Given the description of an element on the screen output the (x, y) to click on. 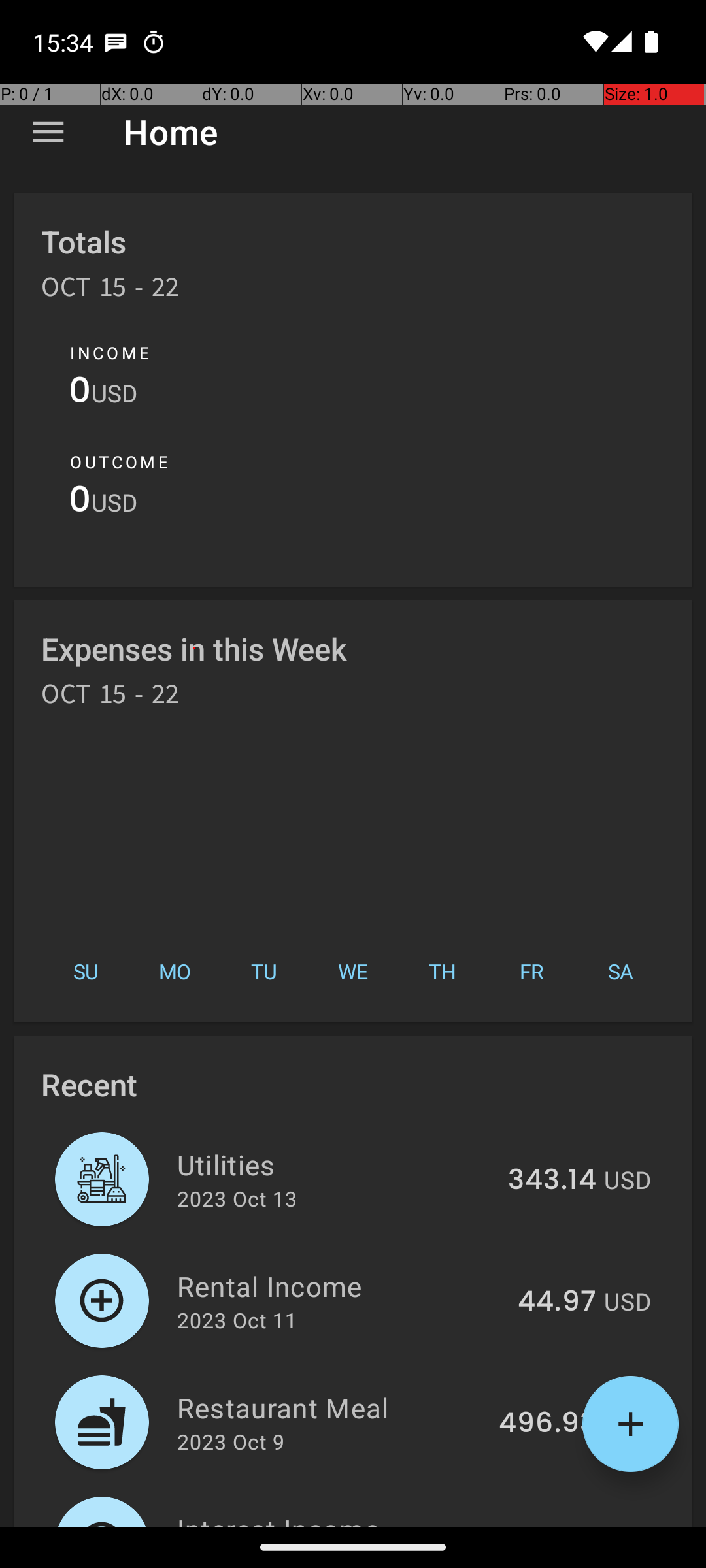
Utilities Element type: android.widget.TextView (334, 1164)
343.14 Element type: android.widget.TextView (551, 1180)
44.97 Element type: android.widget.TextView (556, 1301)
Restaurant Meal Element type: android.widget.TextView (330, 1407)
496.93 Element type: android.widget.TextView (547, 1423)
Interest Income Element type: android.widget.TextView (340, 1518)
23.84 Element type: android.widget.TextView (557, 1524)
SMS Messenger notification: Emily Ibrahim Element type: android.widget.ImageView (115, 41)
